Given the description of an element on the screen output the (x, y) to click on. 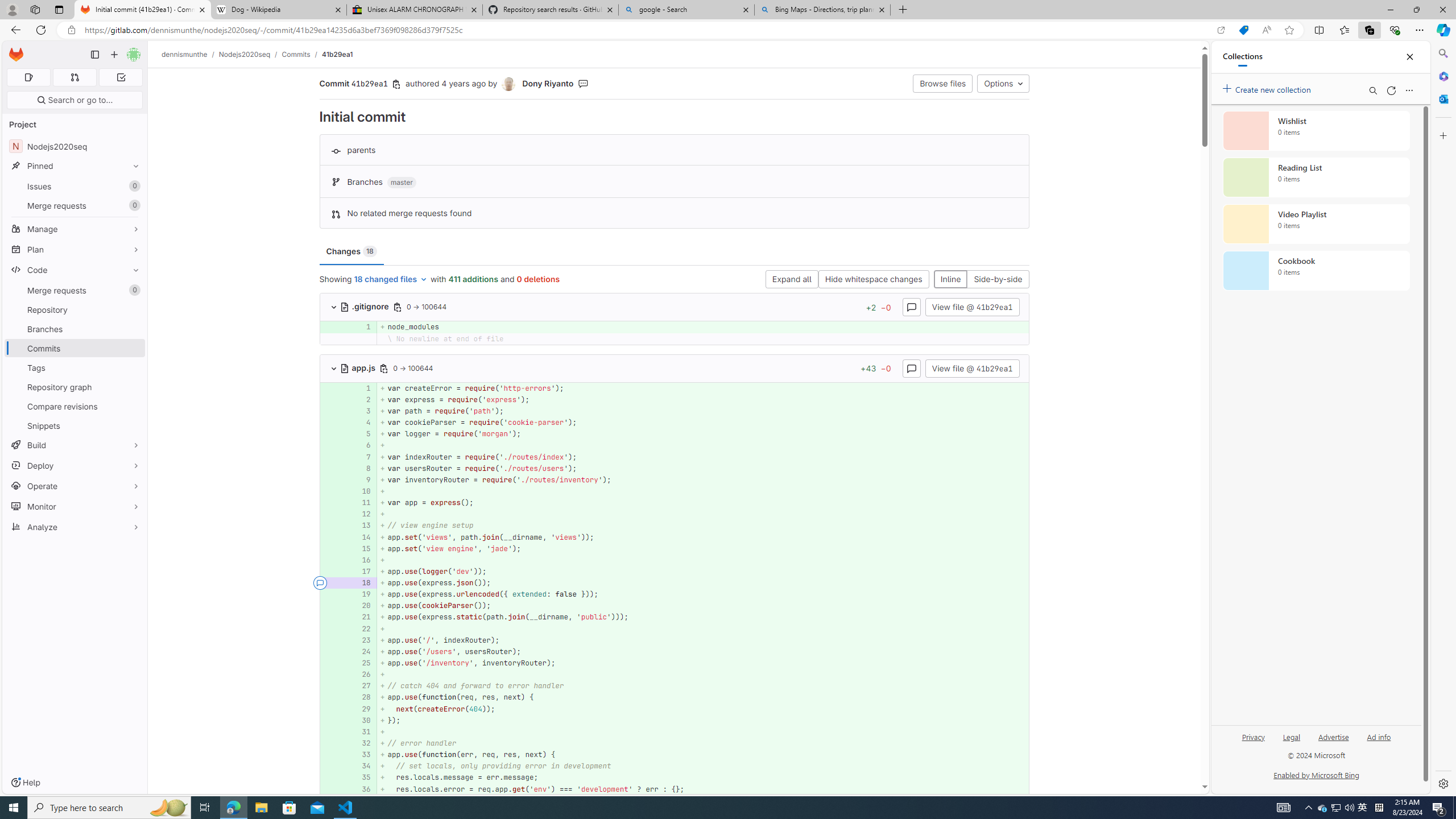
3 (362, 410)
Inline (950, 279)
41b29ea1 (337, 53)
Analyze (74, 526)
+ var logger = require('morgan');  (703, 434)
Unpin Merge requests (132, 290)
11 (360, 503)
View file @ 41b29ea1 (971, 367)
AutomationID: 4a68969ef8e858229267b842dedf42ab5dde4d50_0_32 (674, 743)
AutomationID: 4a68969ef8e858229267b842dedf42ab5dde4d50_0_23 (674, 639)
AutomationID: 4a68969ef8e858229267b842dedf42ab5dde4d50_0_35 (674, 777)
Video Playlist collection, 0 items (1316, 223)
Plan (74, 248)
31 (362, 731)
AutomationID: 4a68969ef8e858229267b842dedf42ab5dde4d50_0_28 (674, 697)
